Given the description of an element on the screen output the (x, y) to click on. 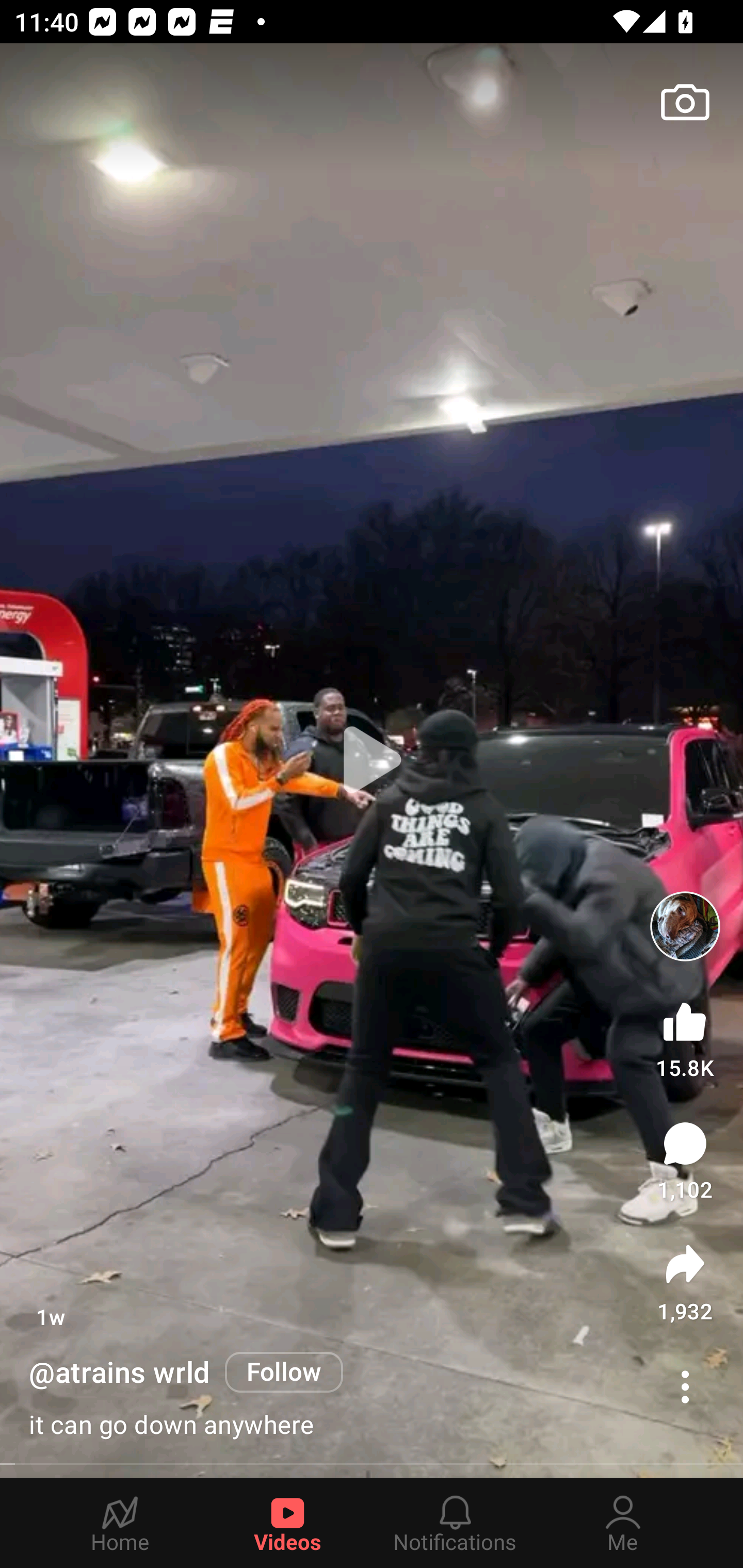
15.8K (684, 1035)
1,102 (685, 1160)
1,932 (685, 1282)
Follow (284, 1371)
@atrains wrld (119, 1373)
Home (119, 1522)
Notifications (455, 1522)
Me (622, 1522)
